Given the description of an element on the screen output the (x, y) to click on. 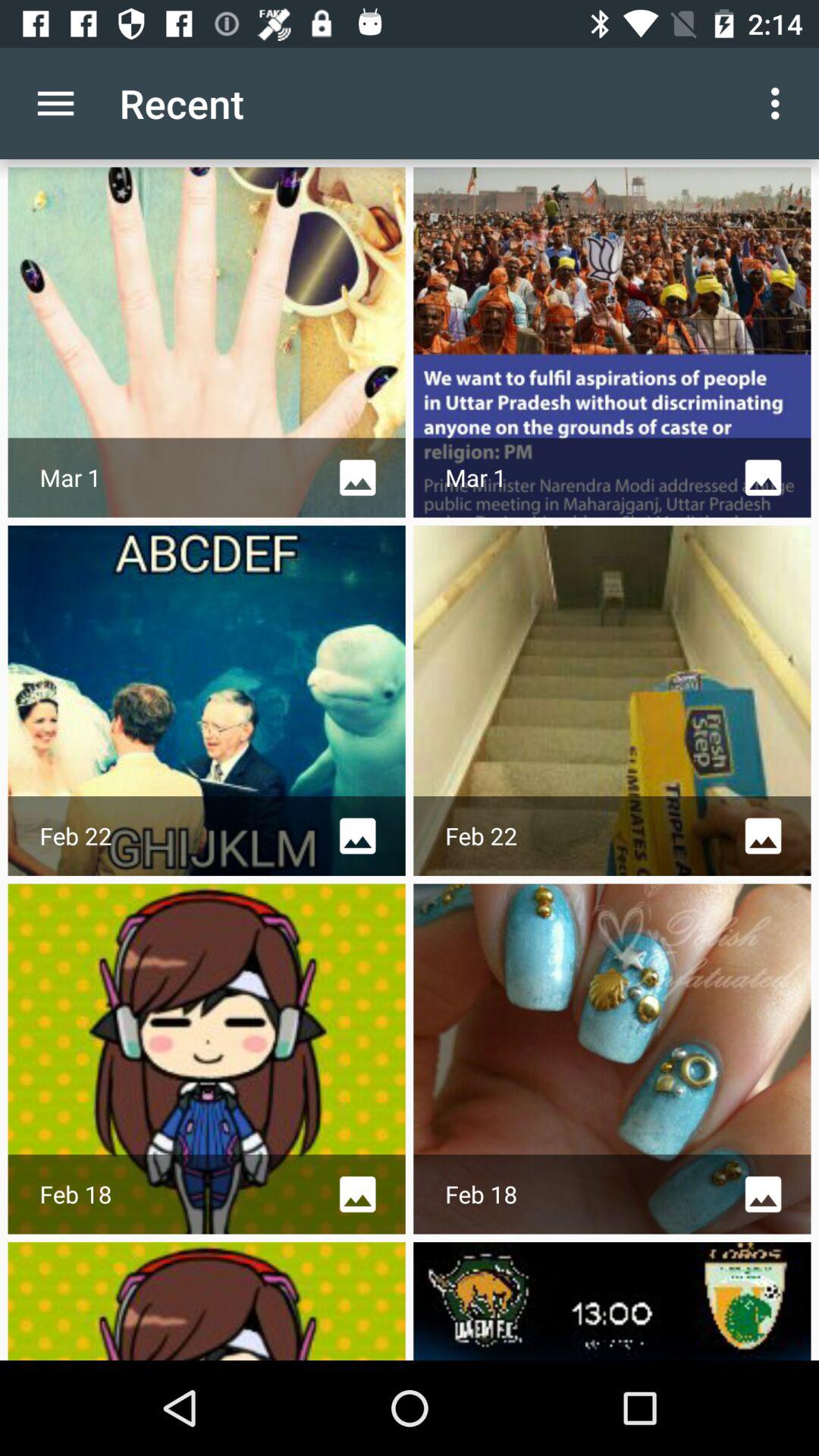
turn off the icon next to the recent item (55, 103)
